Given the description of an element on the screen output the (x, y) to click on. 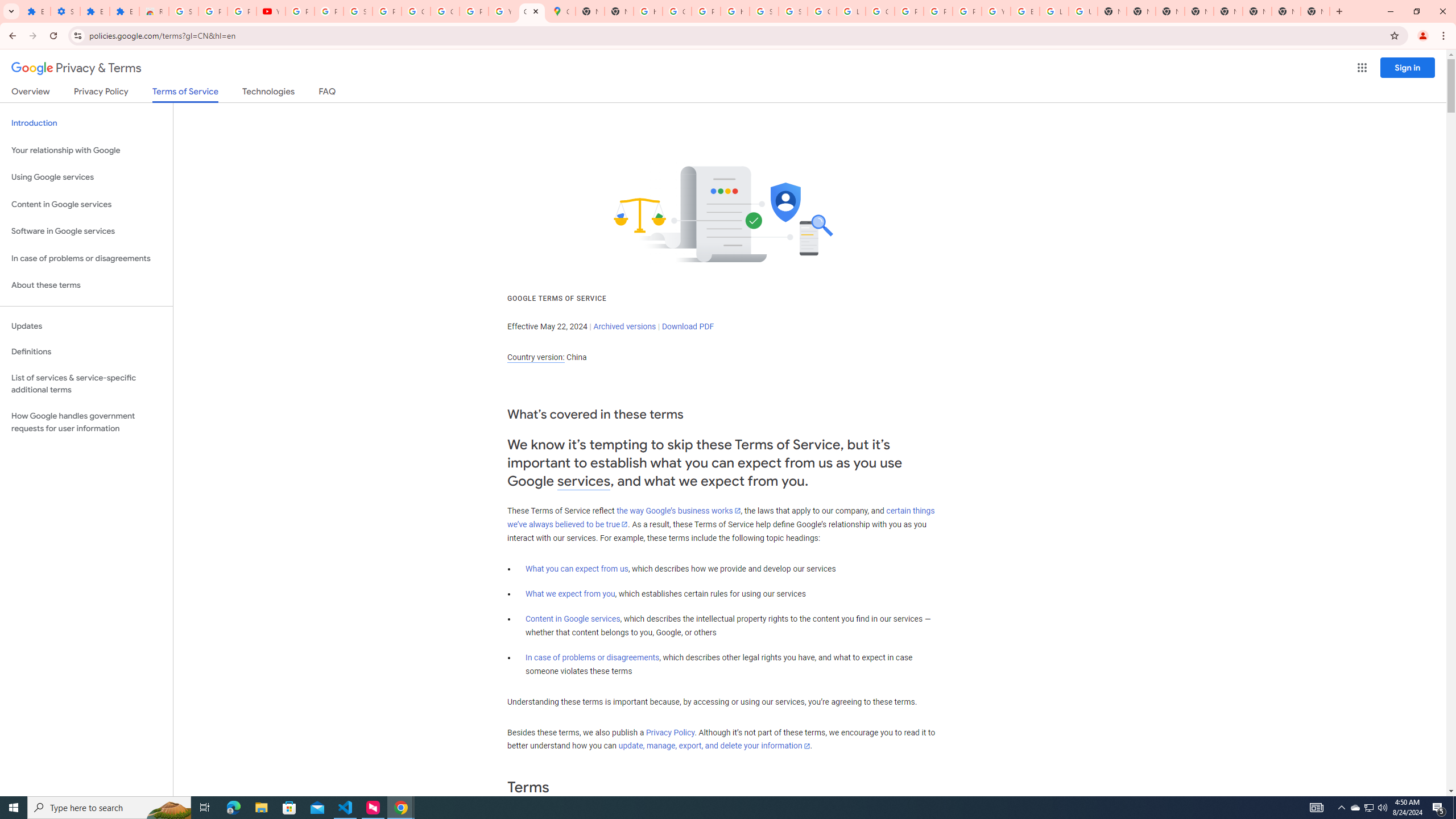
YouTube (502, 11)
New Tab (1315, 11)
Sign in - Google Accounts (792, 11)
What you can expect from us (576, 568)
Your relationship with Google (86, 150)
update, manage, export, and delete your information (714, 746)
